Given the description of an element on the screen output the (x, y) to click on. 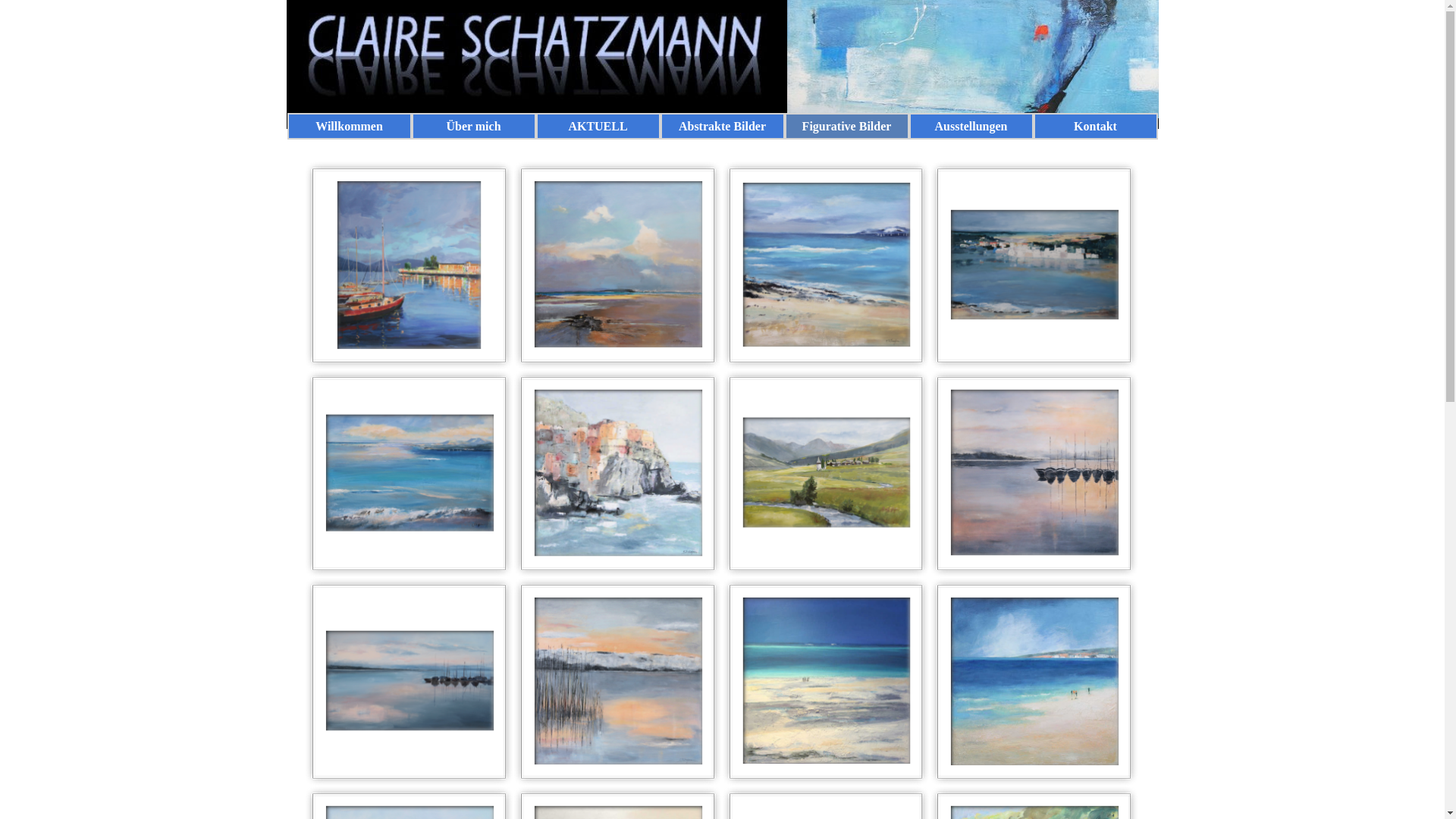
Willkommen Element type: text (349, 126)
